Given the description of an element on the screen output the (x, y) to click on. 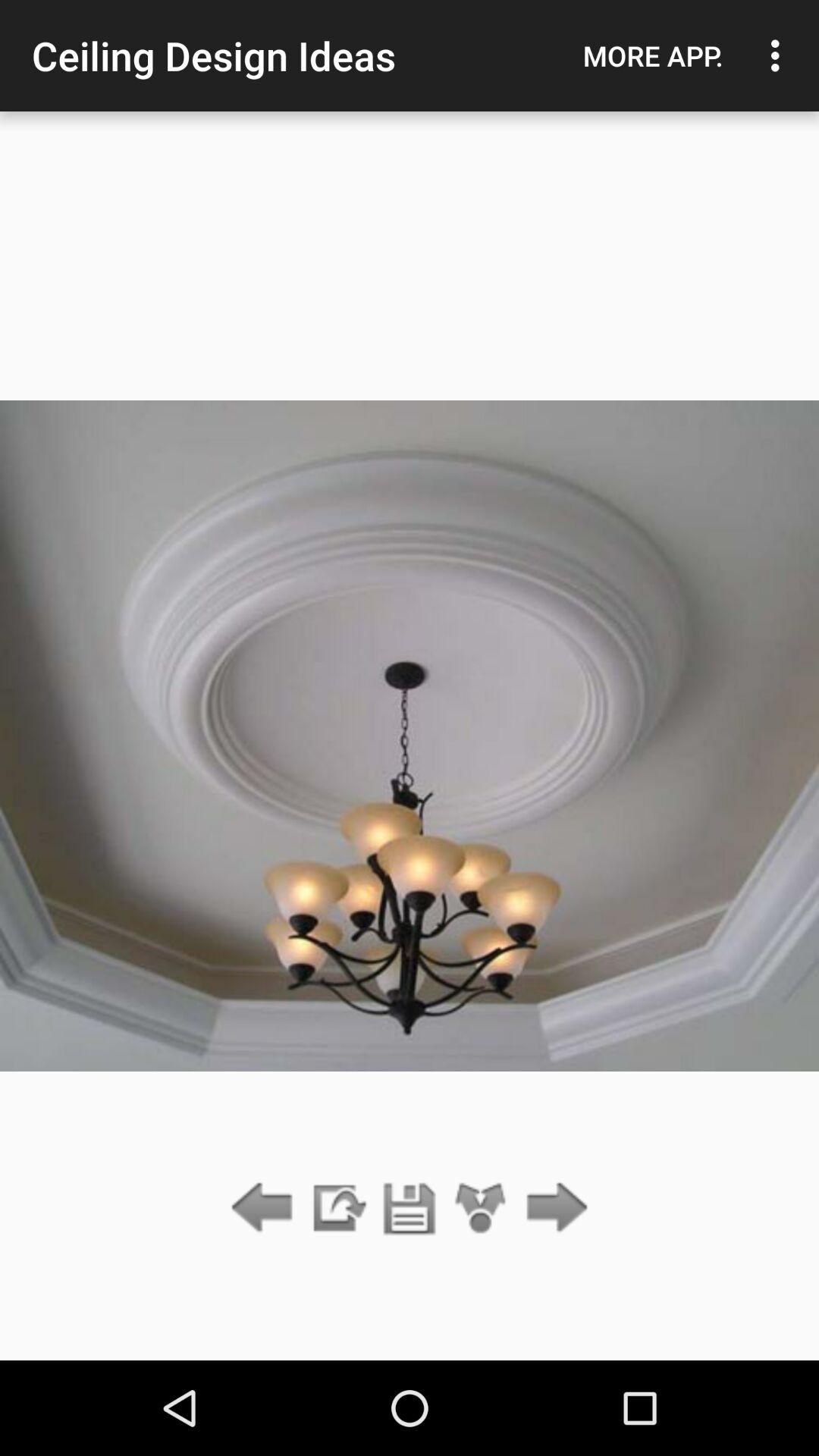
turn on the app next to ceiling design ideas item (653, 55)
